Given the description of an element on the screen output the (x, y) to click on. 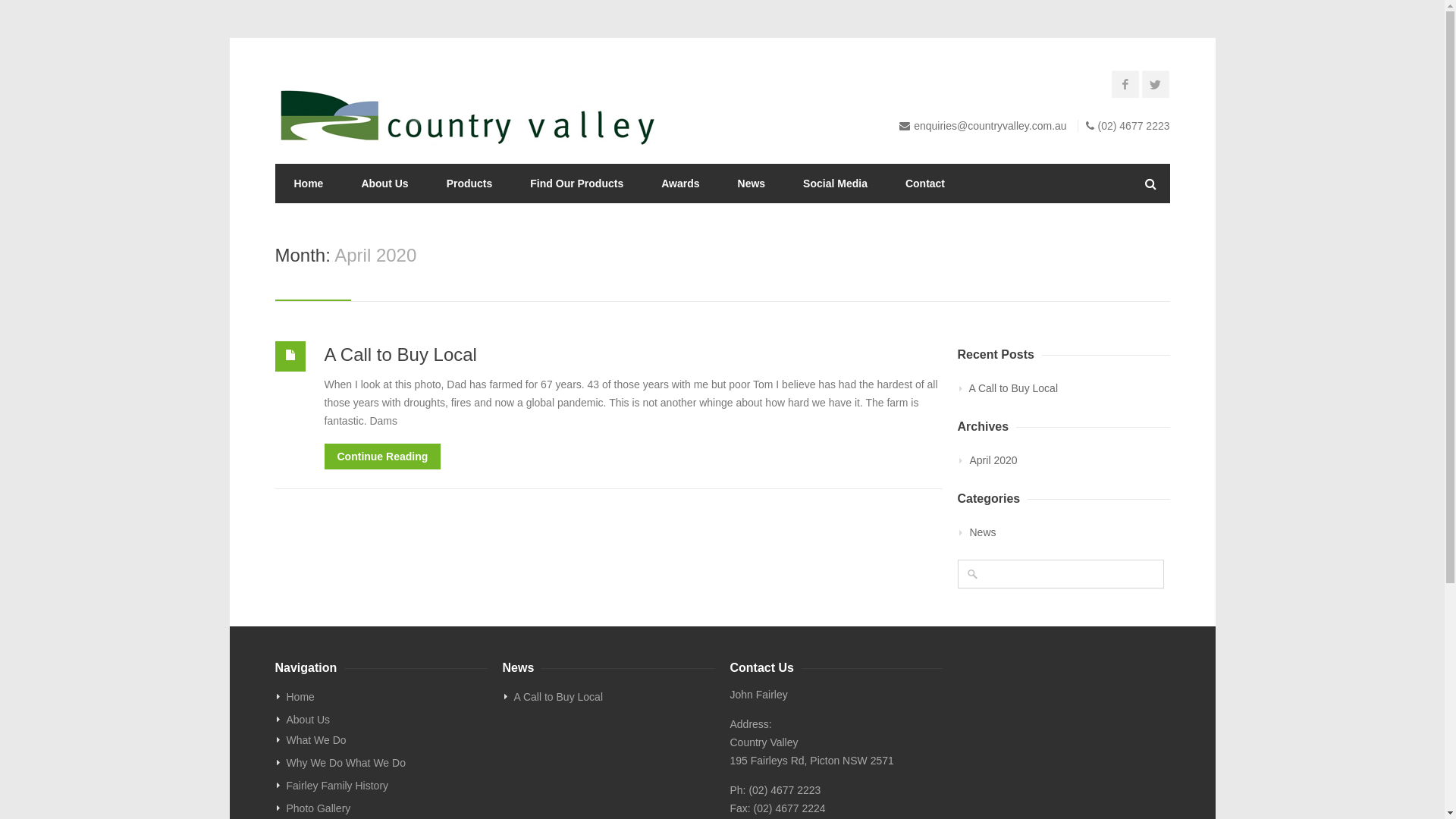
enquiries@countryvalley.com.au Element type: text (989, 125)
About Us Element type: text (386, 719)
Continue Reading Element type: text (382, 456)
A Call to Buy Local Element type: text (614, 696)
About Us Element type: text (384, 183)
April 2020 Element type: text (992, 460)
Photo Gallery Element type: text (386, 808)
Twitter Element type: hover (1157, 86)
Find Our Products Element type: text (576, 183)
Why We Do What We Do Element type: text (386, 762)
A Call to Buy Local Element type: text (400, 354)
News Element type: text (982, 532)
Home Element type: text (308, 183)
News Element type: text (751, 183)
Social Media Element type: text (835, 183)
Products Element type: text (469, 183)
Awards Element type: text (680, 183)
What We Do Element type: text (386, 740)
Home Element type: text (386, 696)
Fairley Family History Element type: text (386, 785)
facebook Element type: hover (1127, 86)
A Call to Buy Local Element type: text (1069, 388)
Contact Element type: text (924, 183)
